Given the description of an element on the screen output the (x, y) to click on. 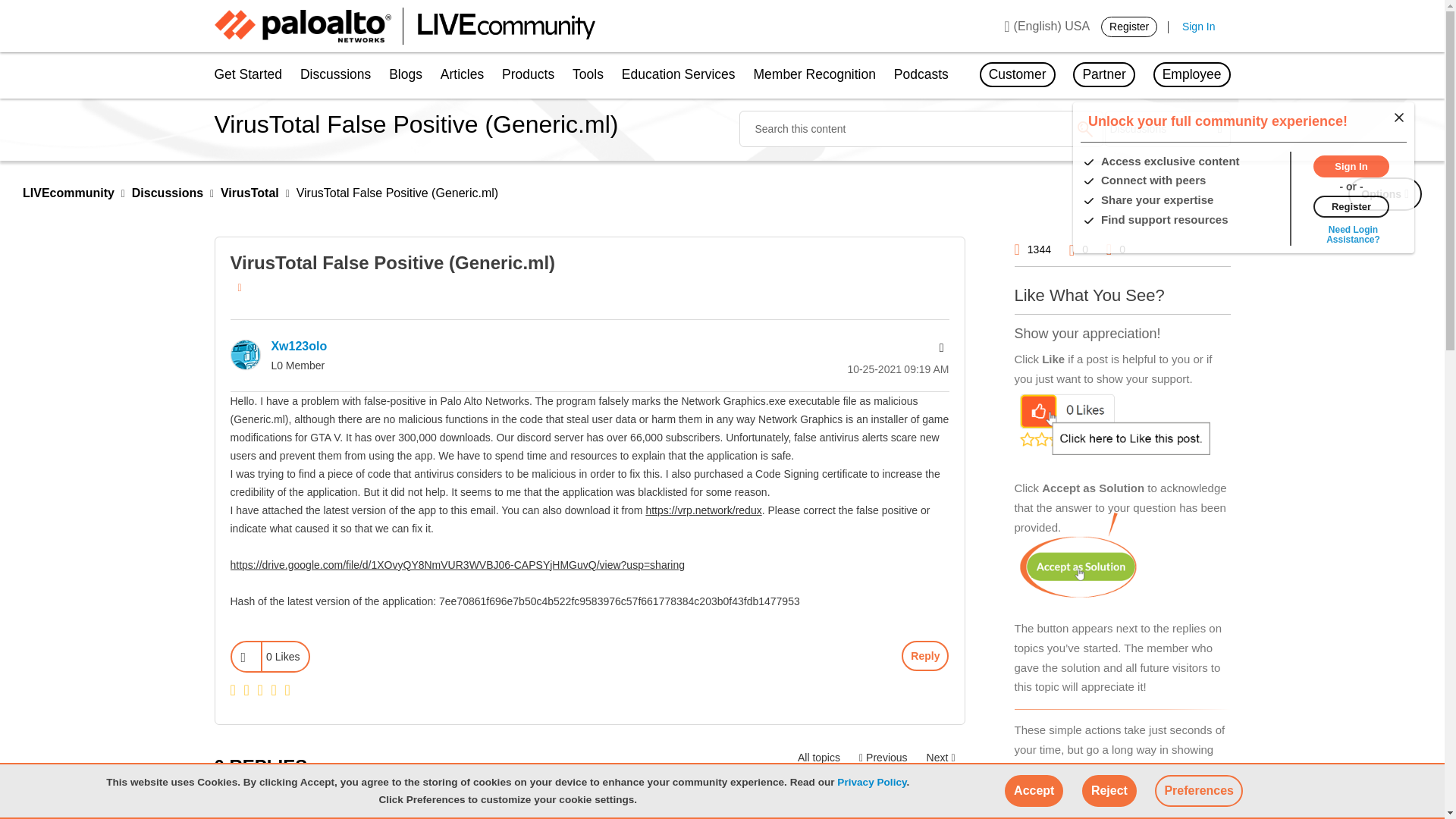
Reject (1109, 790)
Register (1128, 26)
Accept (1033, 790)
Get Started (251, 75)
Discussions (335, 75)
Sign In (1351, 164)
Search (920, 128)
Search Granularity (1167, 128)
Sign In (1198, 26)
Privacy Policy (871, 781)
Register (1351, 205)
Search (1084, 128)
Preferences (1198, 790)
View more (1353, 234)
Search (1084, 128)
